Given the description of an element on the screen output the (x, y) to click on. 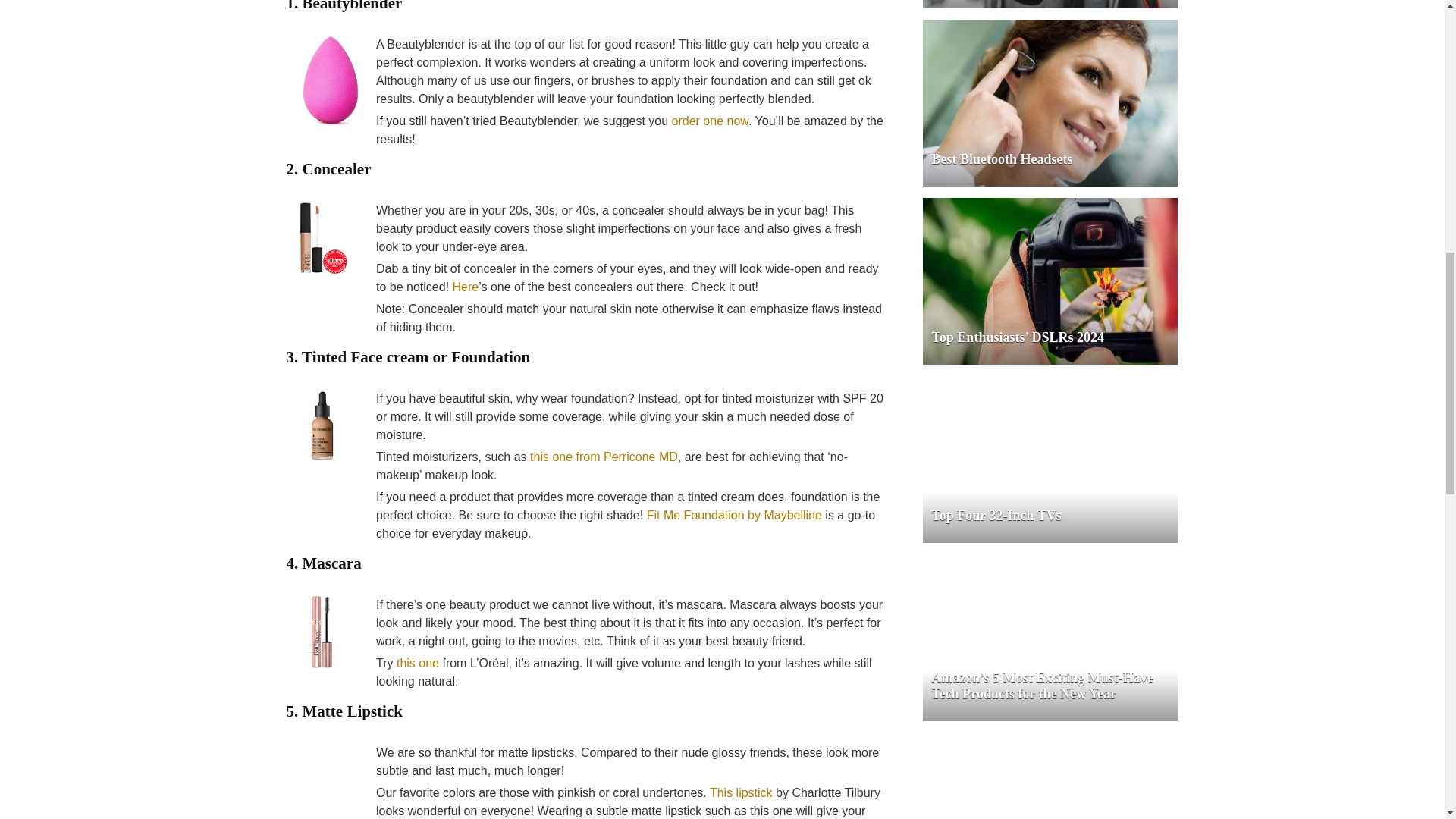
order one now (709, 120)
Fit Me Foundation by Maybelline (734, 514)
this one (417, 662)
Here (463, 286)
this one from Perricone MD (603, 456)
This lipstick (741, 792)
